Given the description of an element on the screen output the (x, y) to click on. 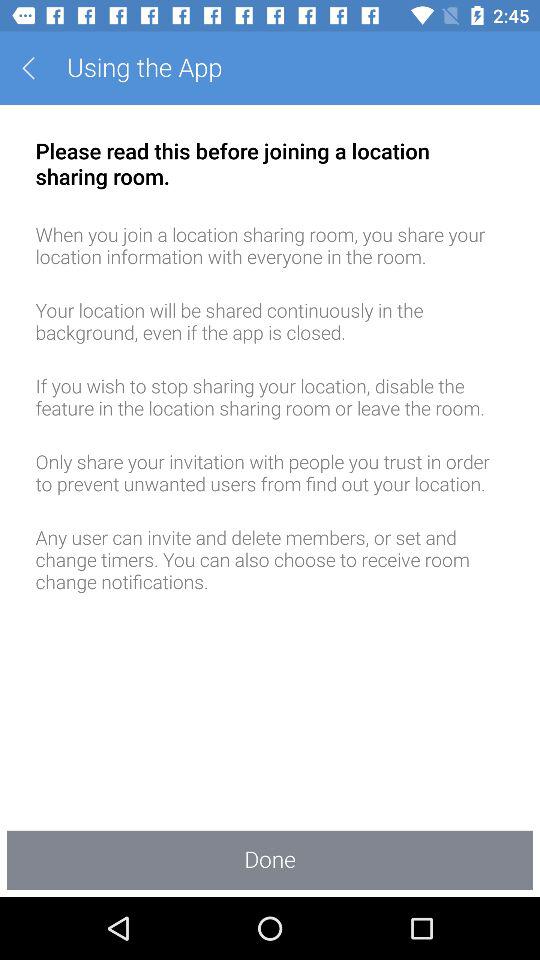
turn on the item below the any user can app (269, 859)
